Given the description of an element on the screen output the (x, y) to click on. 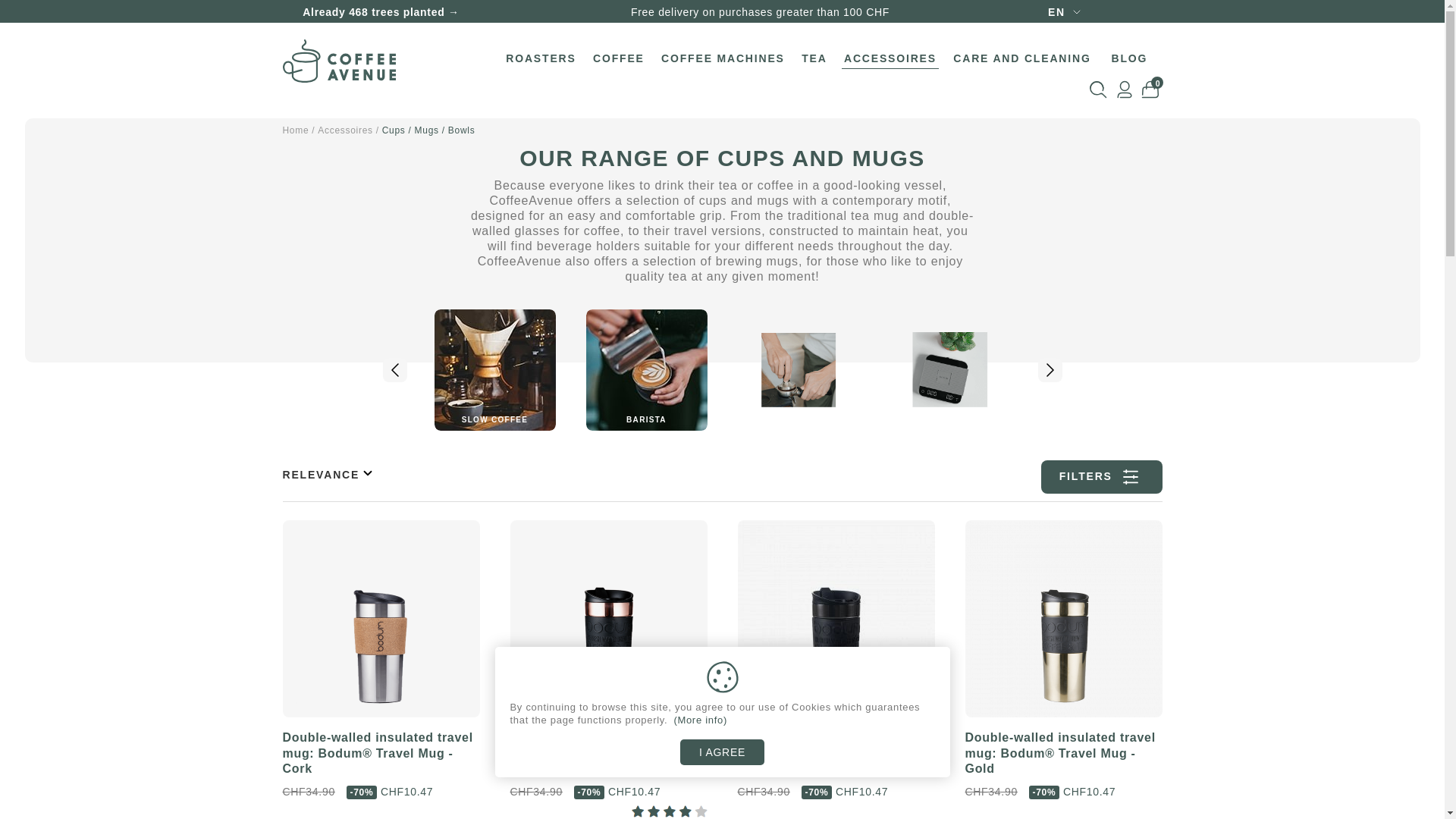
ACCESSOIRES Element type: text (889, 58)
COFFEE Element type: text (618, 58)
SLOW COFFEE Element type: text (494, 369)
Home Element type: text (295, 130)
TEA Element type: text (814, 58)
Accessoires Element type: text (344, 130)
Next Element type: text (1049, 369)
I AGREE Element type: text (722, 752)
BLOG Element type: text (1128, 58)
TAMPER Element type: text (797, 369)
0 Element type: text (1150, 89)
ROASTERS Element type: text (540, 58)
CARE AND CLEANING Element type: text (1021, 58)
CoffeeAvenue Element type: hover (338, 60)
BARISTA Element type: text (645, 369)
SCALES Element type: text (949, 369)
COFFEE MACHINES Element type: text (722, 58)
More info Element type: text (700, 719)
Previous Element type: text (394, 369)
